Given the description of an element on the screen output the (x, y) to click on. 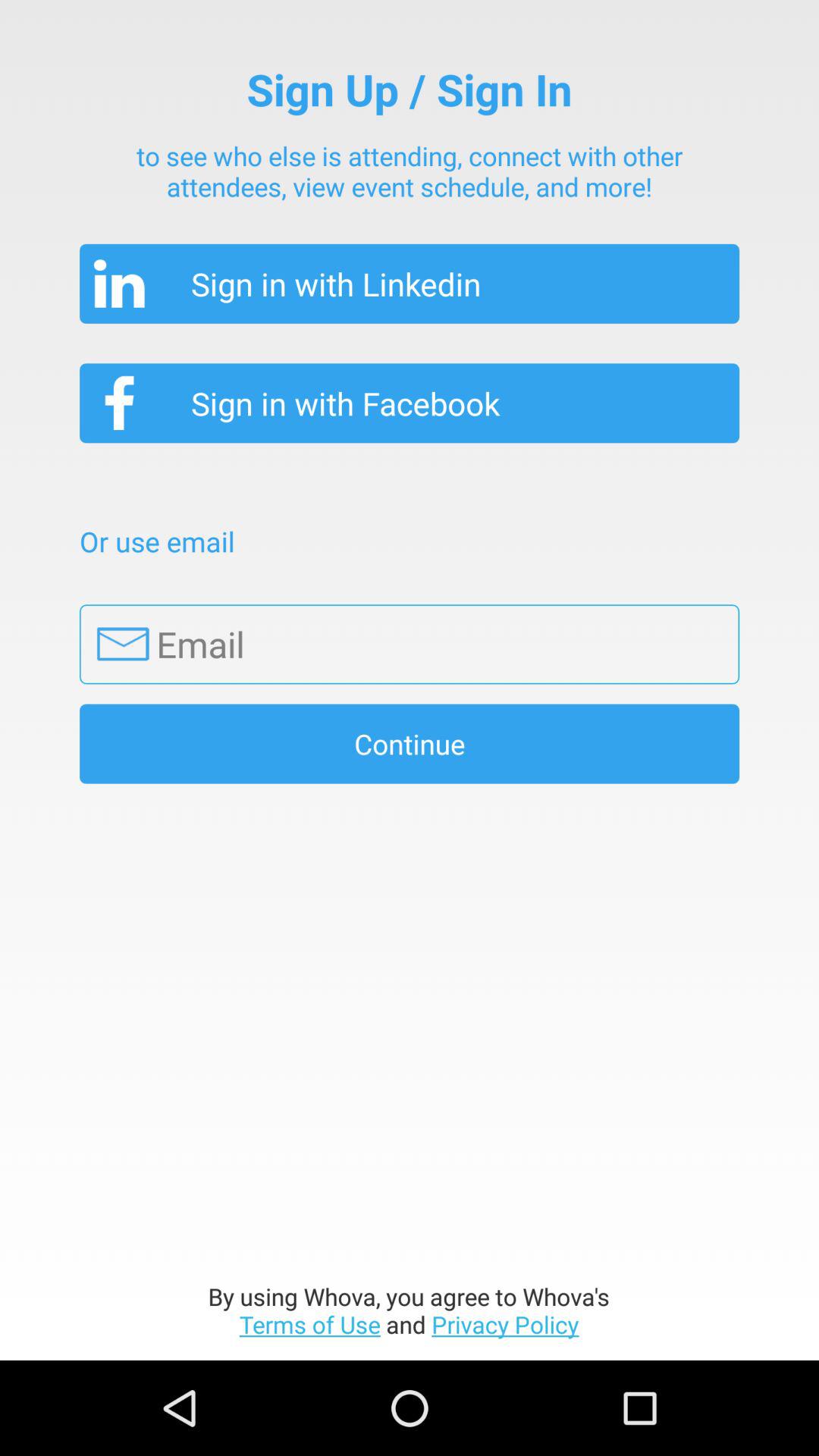
flip until the by using whova icon (408, 1310)
